Given the description of an element on the screen output the (x, y) to click on. 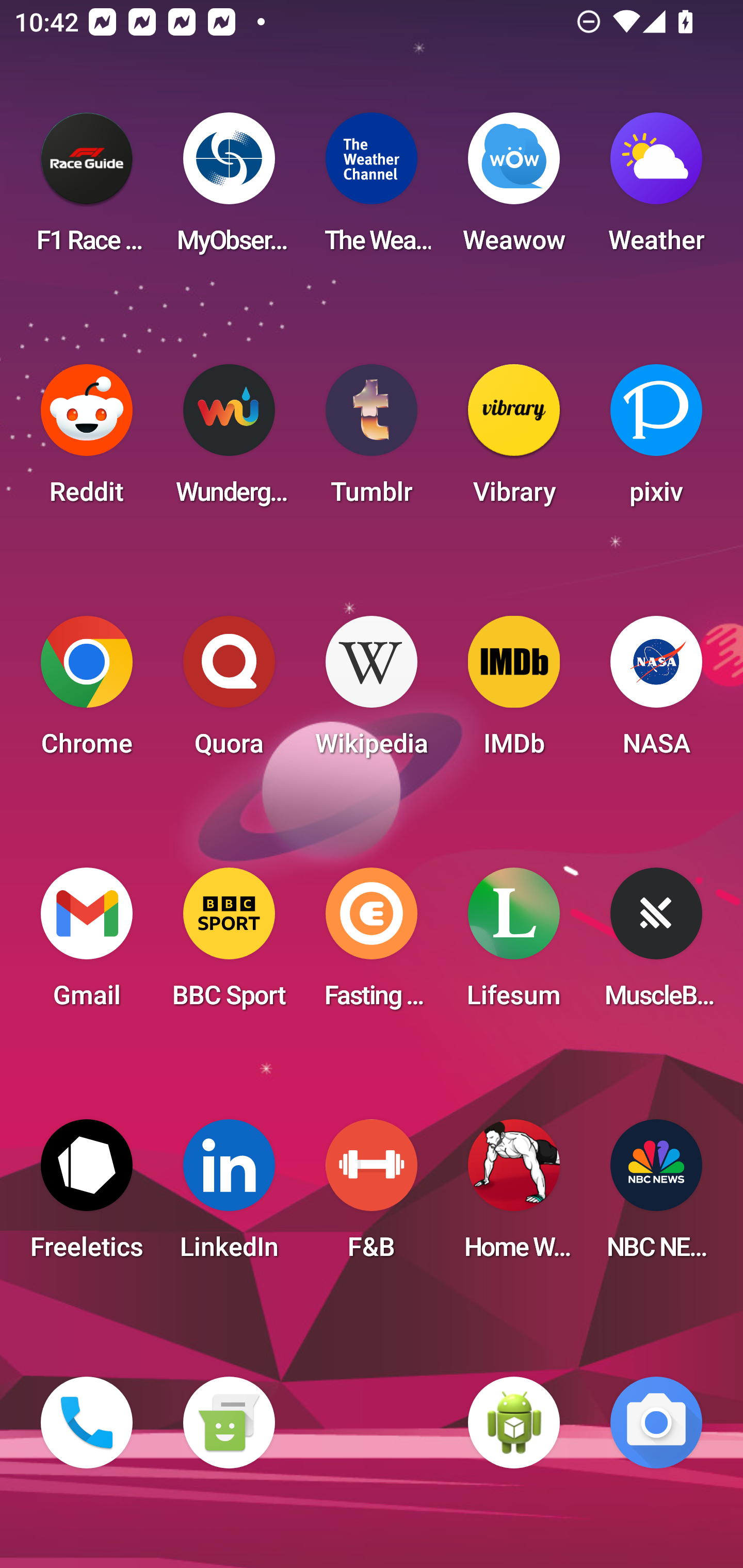
F1 Race Guide (86, 188)
MyObservatory (228, 188)
The Weather Channel (371, 188)
Weawow (513, 188)
Weather (656, 188)
Reddit (86, 440)
Wunderground (228, 440)
Tumblr (371, 440)
Vibrary (513, 440)
pixiv (656, 440)
Chrome (86, 692)
Quora (228, 692)
Wikipedia (371, 692)
IMDb (513, 692)
NASA (656, 692)
Gmail (86, 943)
BBC Sport (228, 943)
Fasting Coach (371, 943)
Lifesum (513, 943)
MuscleBooster (656, 943)
Freeletics (86, 1195)
LinkedIn (228, 1195)
F&B (371, 1195)
Home Workout (513, 1195)
NBC NEWS (656, 1195)
Phone (86, 1422)
Messaging (228, 1422)
WebView Browser Tester (513, 1422)
Camera (656, 1422)
